Given the description of an element on the screen output the (x, y) to click on. 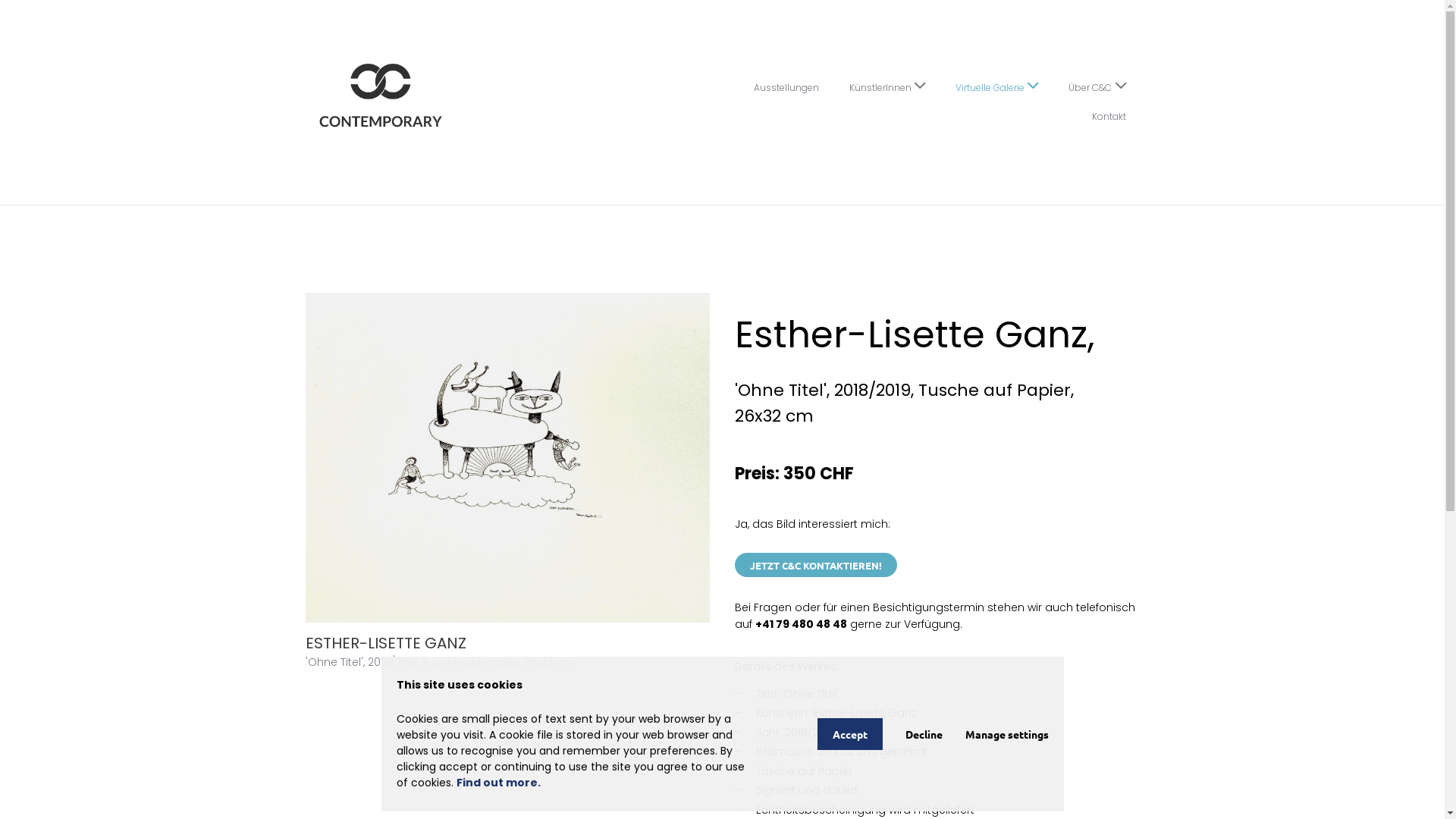
Decline Element type: text (923, 733)
Find out more. Element type: text (498, 782)
Ausstellungen Element type: text (786, 87)
Accept Element type: text (849, 733)
JETZT C&C KONTAKTIEREN! Element type: text (815, 564)
ESTHER-LISETTE GANZ Element type: hover (506, 457)
C&C Contemporary Element type: hover (380, 101)
Kontakt Element type: text (1109, 116)
Manage settings Element type: text (1006, 733)
